Given the description of an element on the screen output the (x, y) to click on. 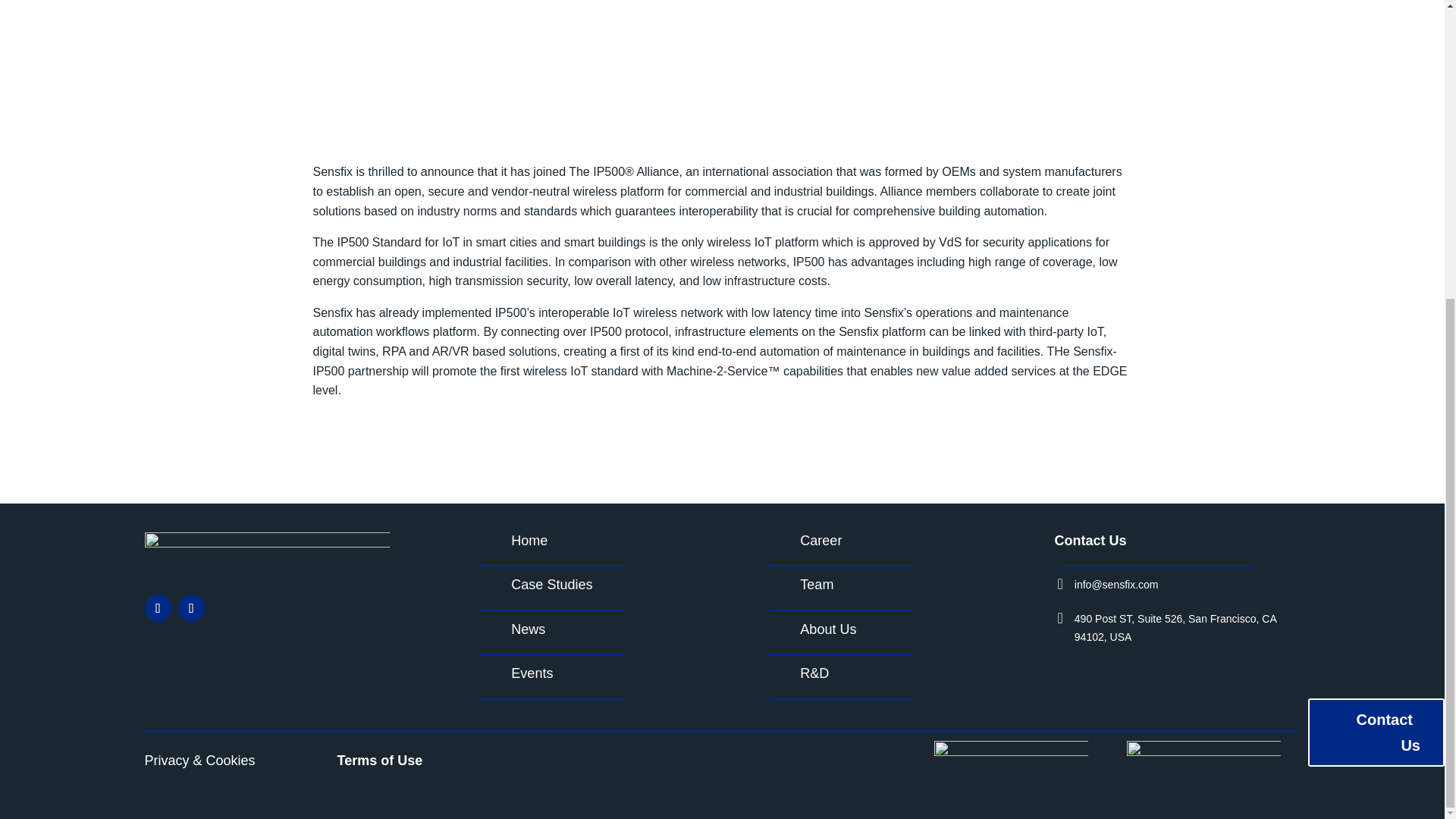
App-Store (1203, 766)
Play-Store (1010, 766)
490 Post ST, Suite 526, San Francisco, CA 94102, USA (1175, 627)
Follow on LinkedIn (191, 607)
About Us (827, 629)
Team (815, 584)
Case Studies (551, 584)
News (527, 629)
Terms of Use (379, 760)
Events (532, 672)
